Given the description of an element on the screen output the (x, y) to click on. 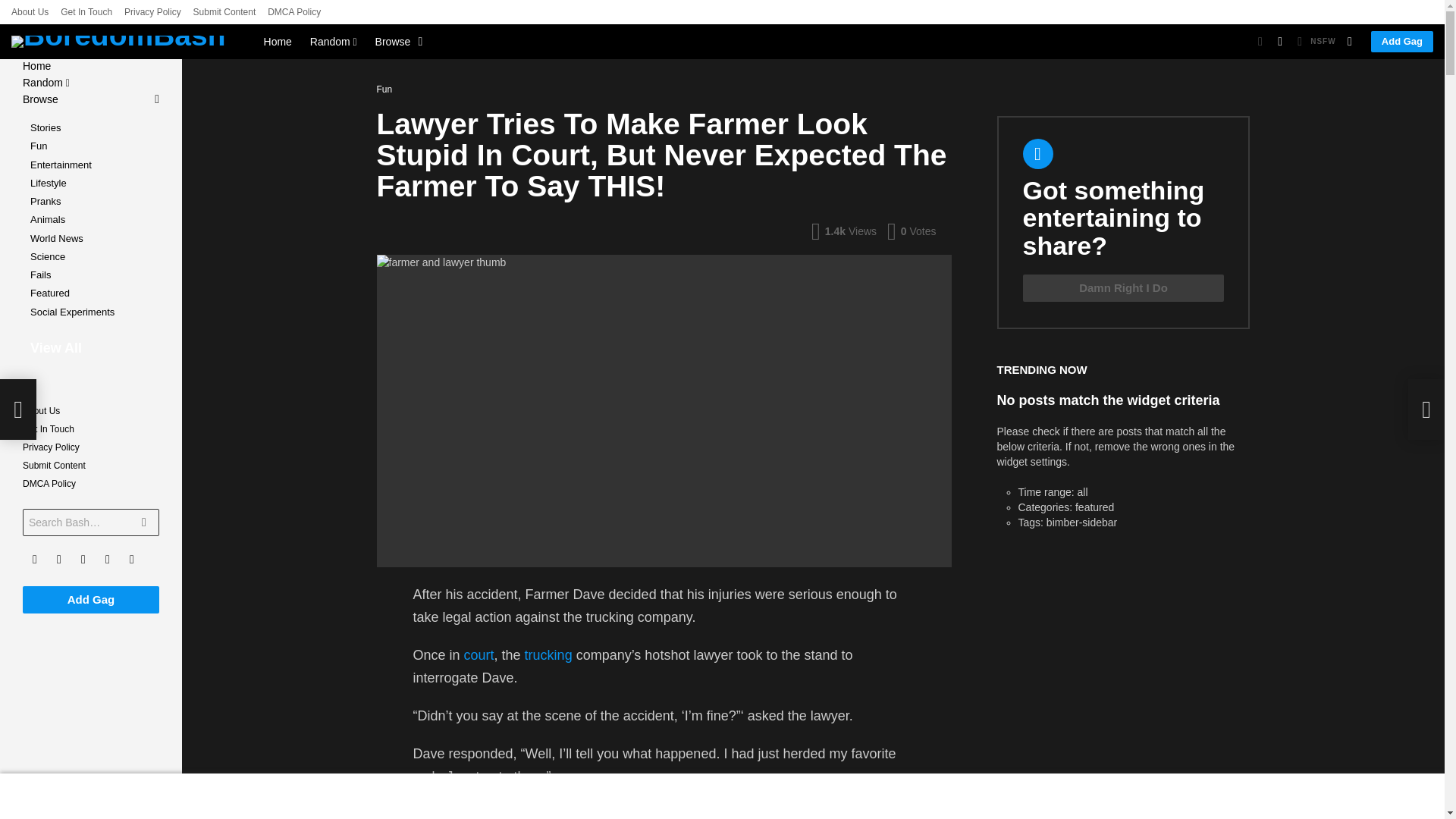
Home (277, 41)
Get In Touch (86, 12)
court (479, 654)
DMCA Policy (293, 12)
About Us (29, 12)
Submit Content (224, 12)
Fun (386, 89)
Add Gag (1401, 41)
Toggle NSFW (1314, 41)
Browse (395, 41)
trucking (548, 654)
Privacy Policy (151, 12)
NSFW (1314, 41)
